Given the description of an element on the screen output the (x, y) to click on. 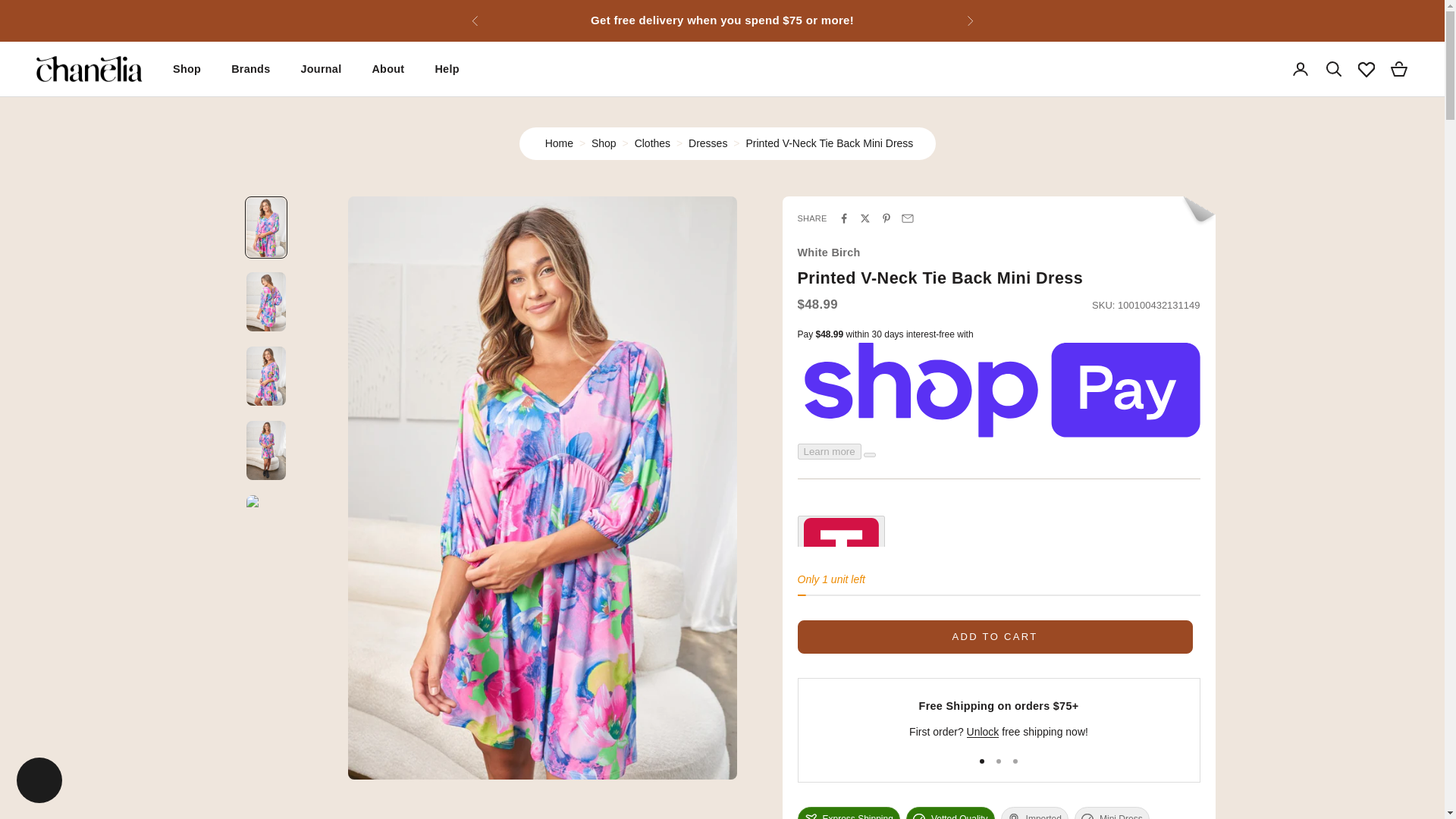
True Fit Widget (998, 531)
Newsletter (982, 731)
Open search (1333, 68)
Shop (603, 143)
Home (558, 143)
Clothes (651, 143)
Shopify online store chat (38, 781)
Wishlist (1366, 68)
Journal (319, 68)
Rewards Program (1324, 731)
